Given the description of an element on the screen output the (x, y) to click on. 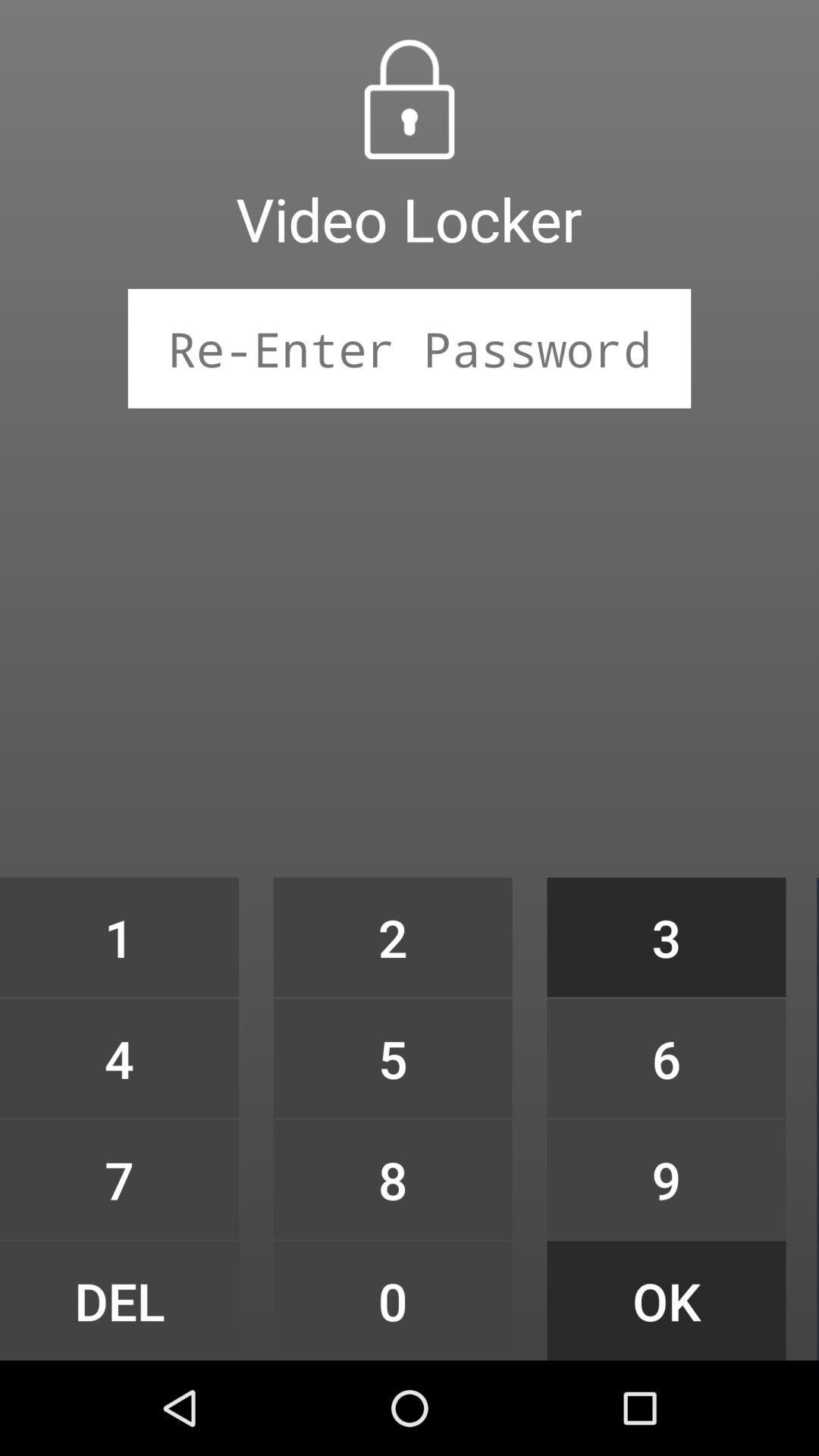
select icon next to the 4 item (392, 1179)
